Given the description of an element on the screen output the (x, y) to click on. 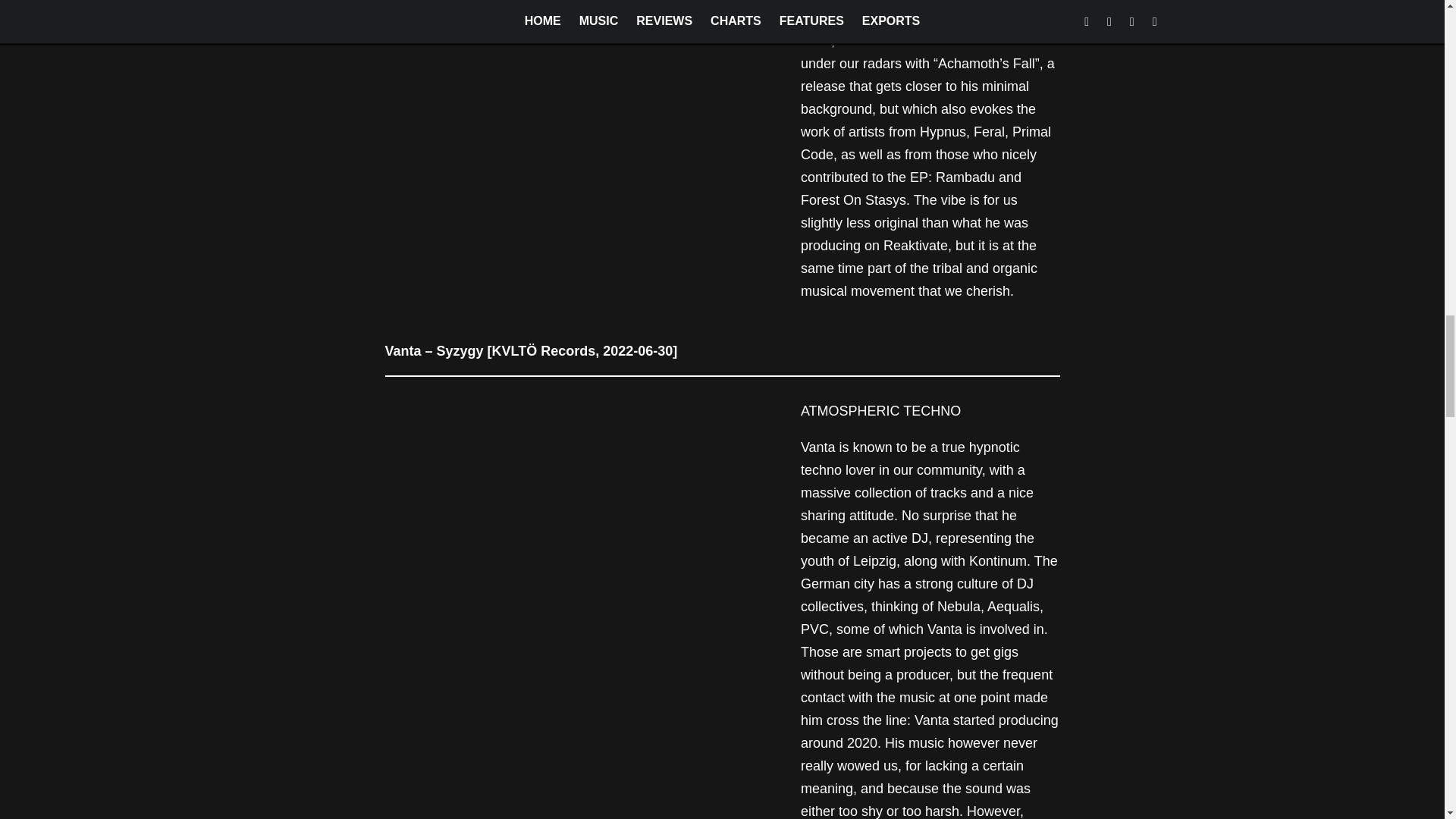
Aequalis (1013, 606)
Nebula (958, 606)
EP (962, 17)
PVC (814, 629)
